Given the description of an element on the screen output the (x, y) to click on. 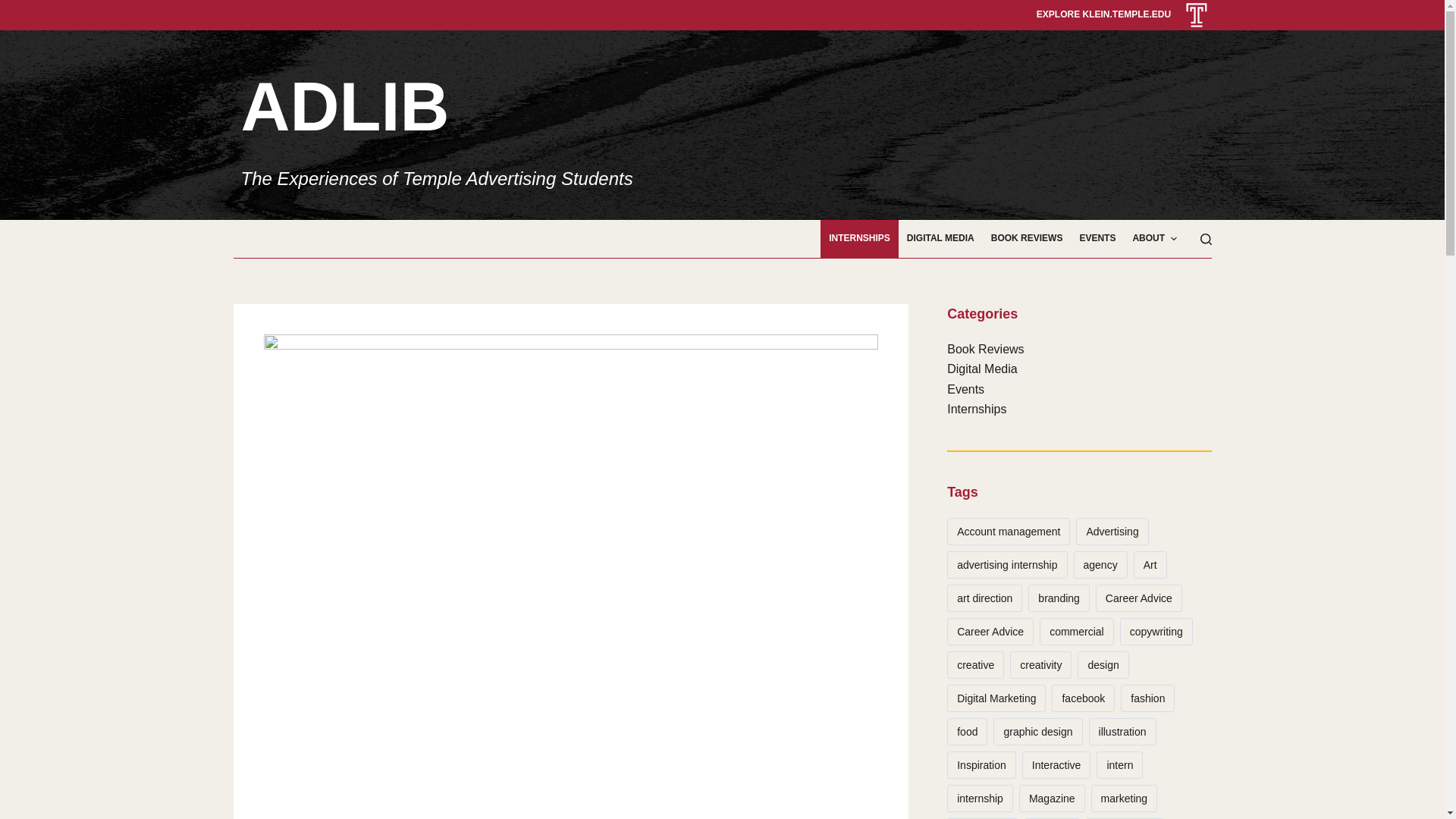
ADLIB (345, 106)
DIGITAL MEDIA (940, 238)
ABOUT (1154, 238)
EVENTS (1097, 238)
BOOK REVIEWS (1026, 238)
EXPLORE KLEIN.TEMPLE.EDU (1103, 14)
Skip to content (15, 7)
INTERNSHIPS (859, 238)
